Given the description of an element on the screen output the (x, y) to click on. 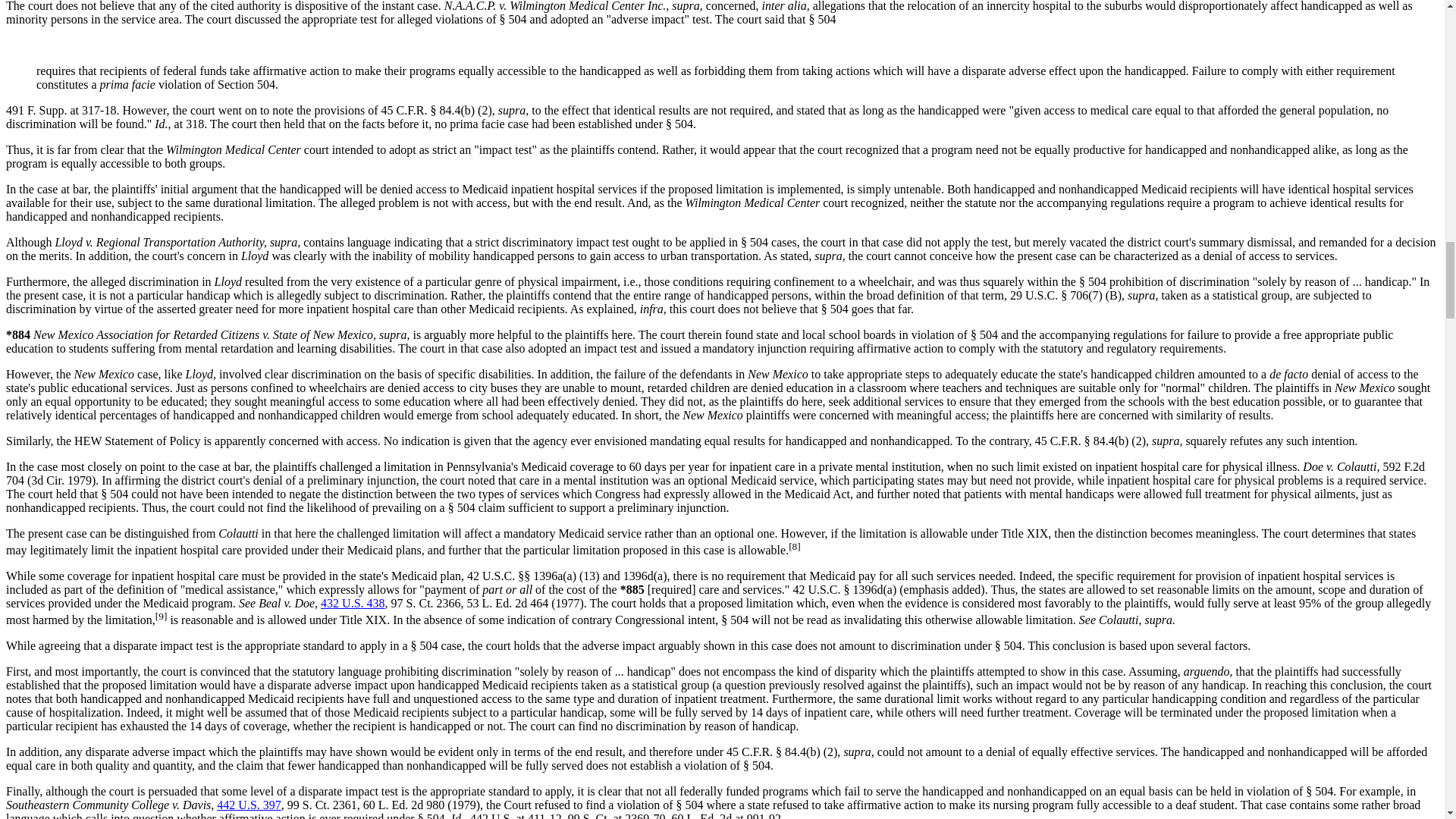
432 U.S. 438 (352, 603)
